Given the description of an element on the screen output the (x, y) to click on. 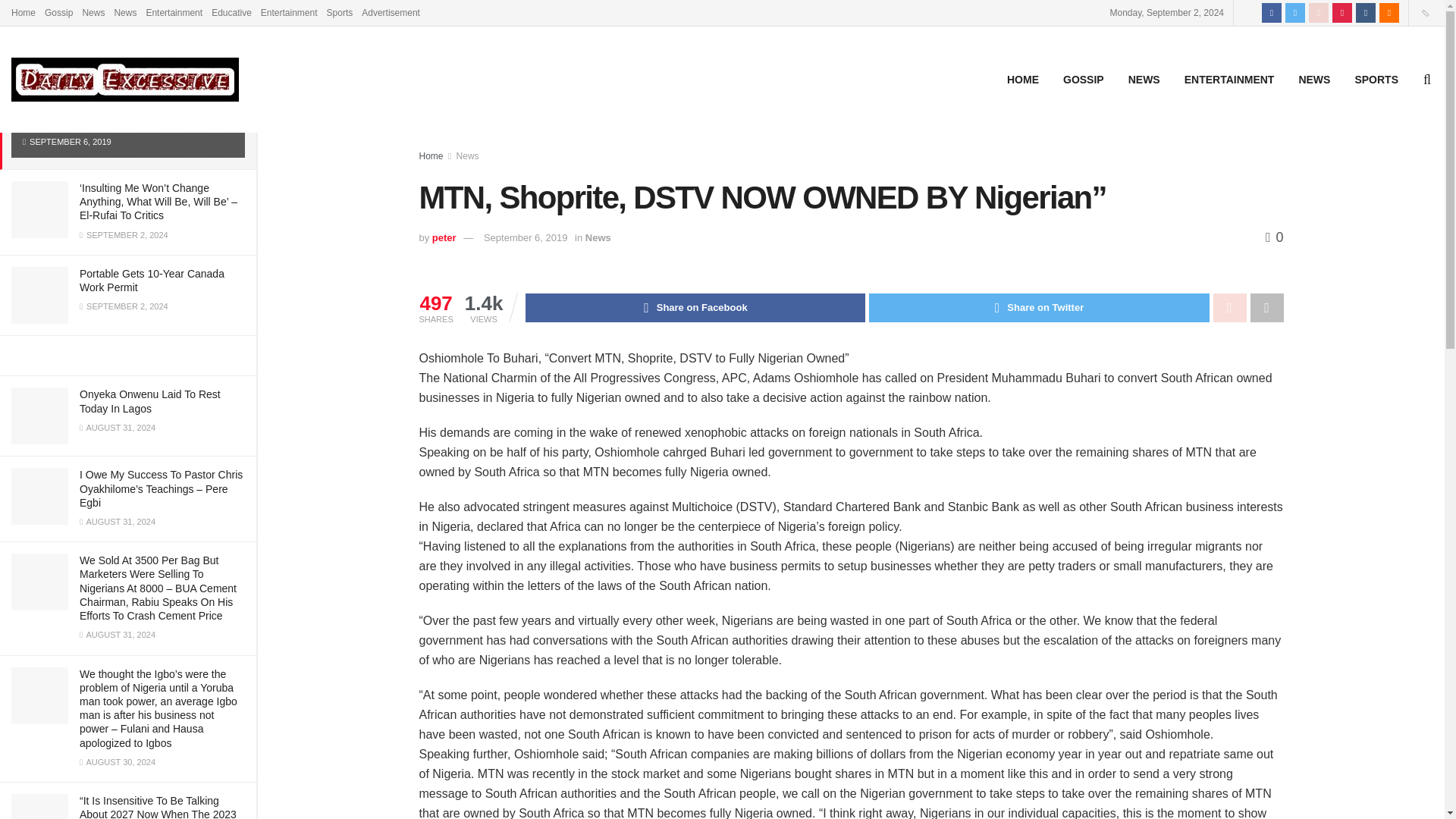
Home (22, 12)
Portable Gets 10-Year Canada Work Permit (152, 280)
Filter (227, 13)
Onyeka Onwenu Laid To Rest Today In Lagos (150, 401)
Entertainment (288, 12)
Educative (231, 12)
Entertainment (173, 12)
Gossip (58, 12)
